Given the description of an element on the screen output the (x, y) to click on. 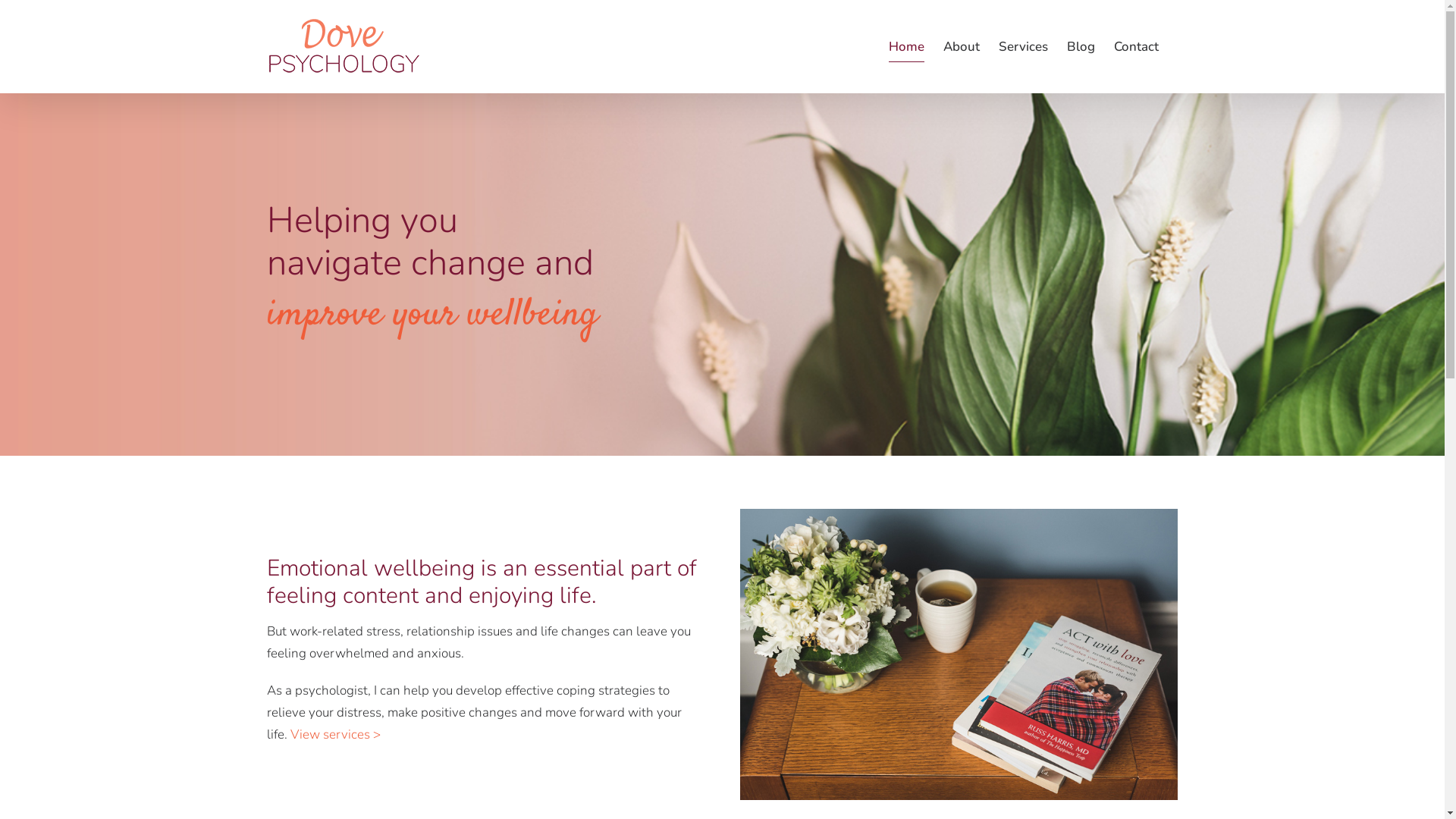
Blog Element type: text (1080, 46)
Services Element type: text (1022, 46)
About Element type: text (961, 46)
Home Element type: text (906, 46)
Contact Element type: text (1135, 46)
View services > Element type: text (335, 734)
